Given the description of an element on the screen output the (x, y) to click on. 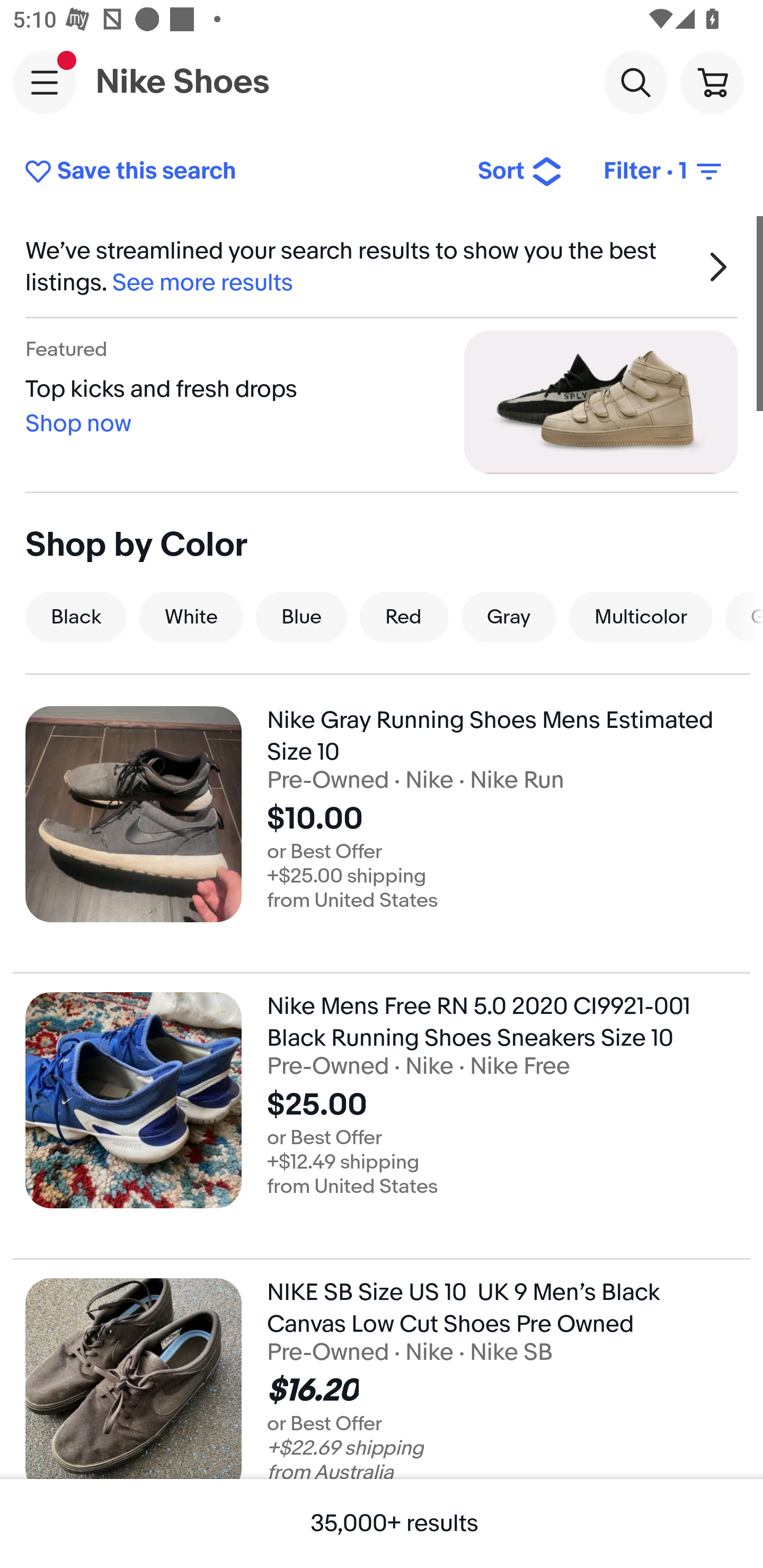
Main navigation, notification is pending, open (44, 82)
Search (635, 81)
Cart button shopping cart (711, 81)
Save this search (237, 171)
Sort (520, 171)
Filter • 1 Filter (1 applied) (663, 171)
Featured Top kicks and fresh drops Shop now (381, 401)
Black Black, Color (75, 616)
White White, Color (191, 616)
Blue Blue, Color (301, 616)
Red Red, Color (404, 616)
Gray Gray, Color (508, 616)
Multicolor Multicolor, Color (640, 616)
